Given the description of an element on the screen output the (x, y) to click on. 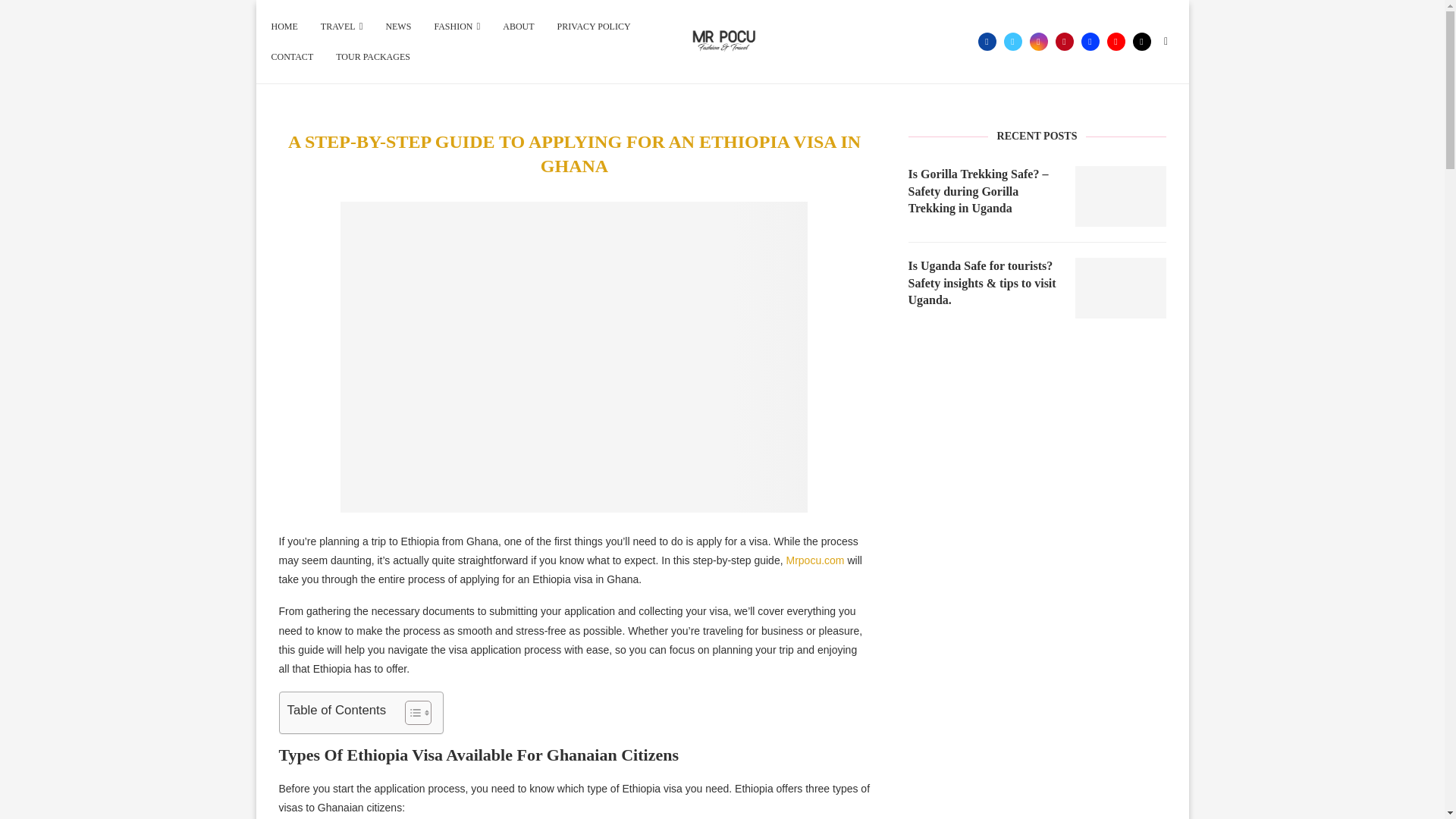
ABOUT (518, 26)
PRIVACY POLICY (593, 26)
FASHION (456, 26)
CONTACT (292, 56)
TRAVEL (341, 26)
